Given the description of an element on the screen output the (x, y) to click on. 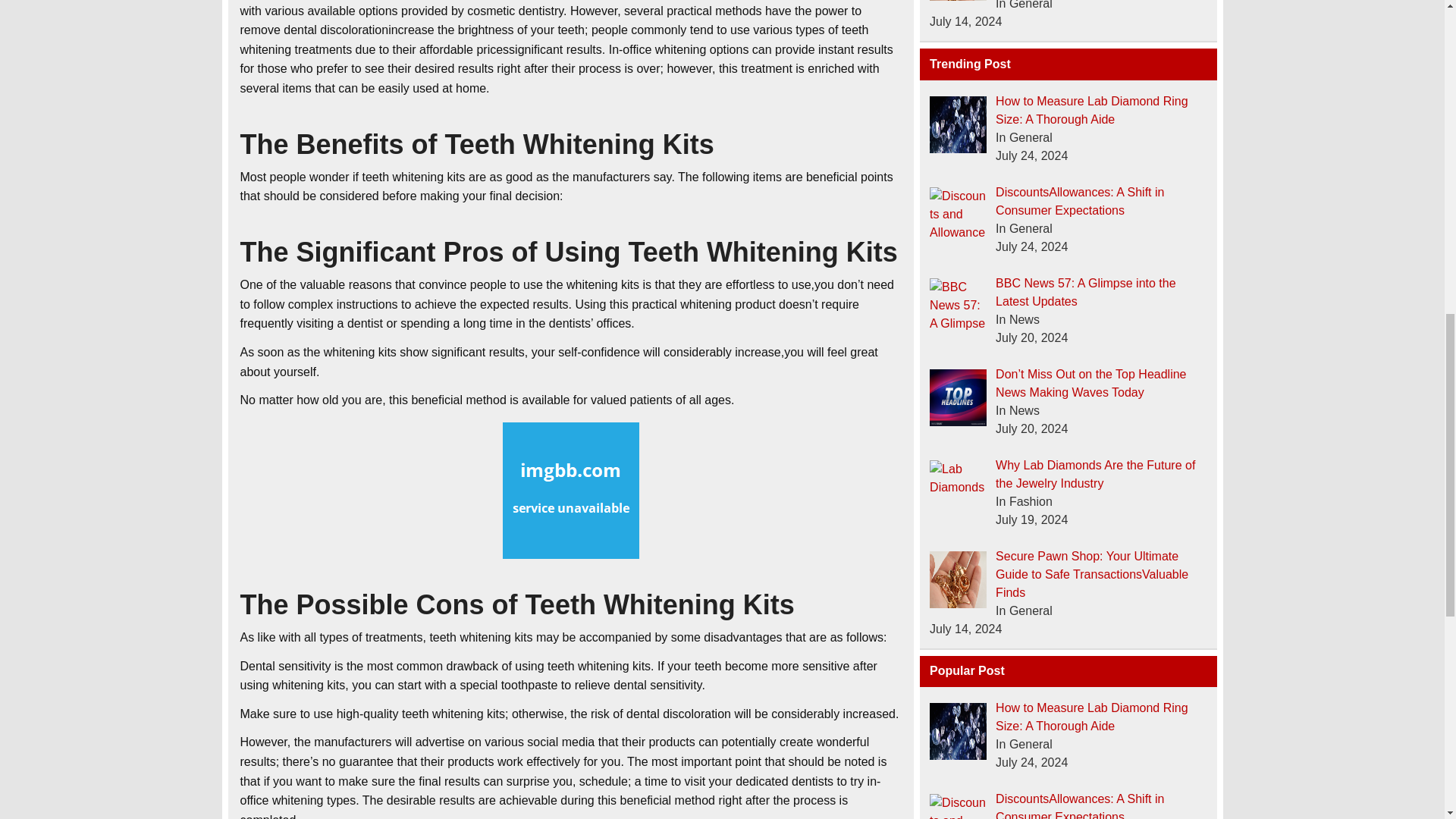
BBC News 57: A Glimpse into the Latest Updates (1084, 291)
How to Measure Lab Diamond Ring Size: A Thorough Aide (1091, 110)
lab created diamonds (958, 123)
Why Lab Diamonds Are the Future of the Jewelry Industry (1095, 473)
Discounts and Allowances: A Shift in Consumer Expectations (958, 214)
DiscountsAllowances: A Shift in Consumer Expectations (1079, 201)
How to Measure Lab Diamond Ring Size: A Thorough Aide (1091, 716)
BBC News 57: A Glimpse into the Latest Updates (958, 305)
Secure Pawn Shop (958, 0)
